Given the description of an element on the screen output the (x, y) to click on. 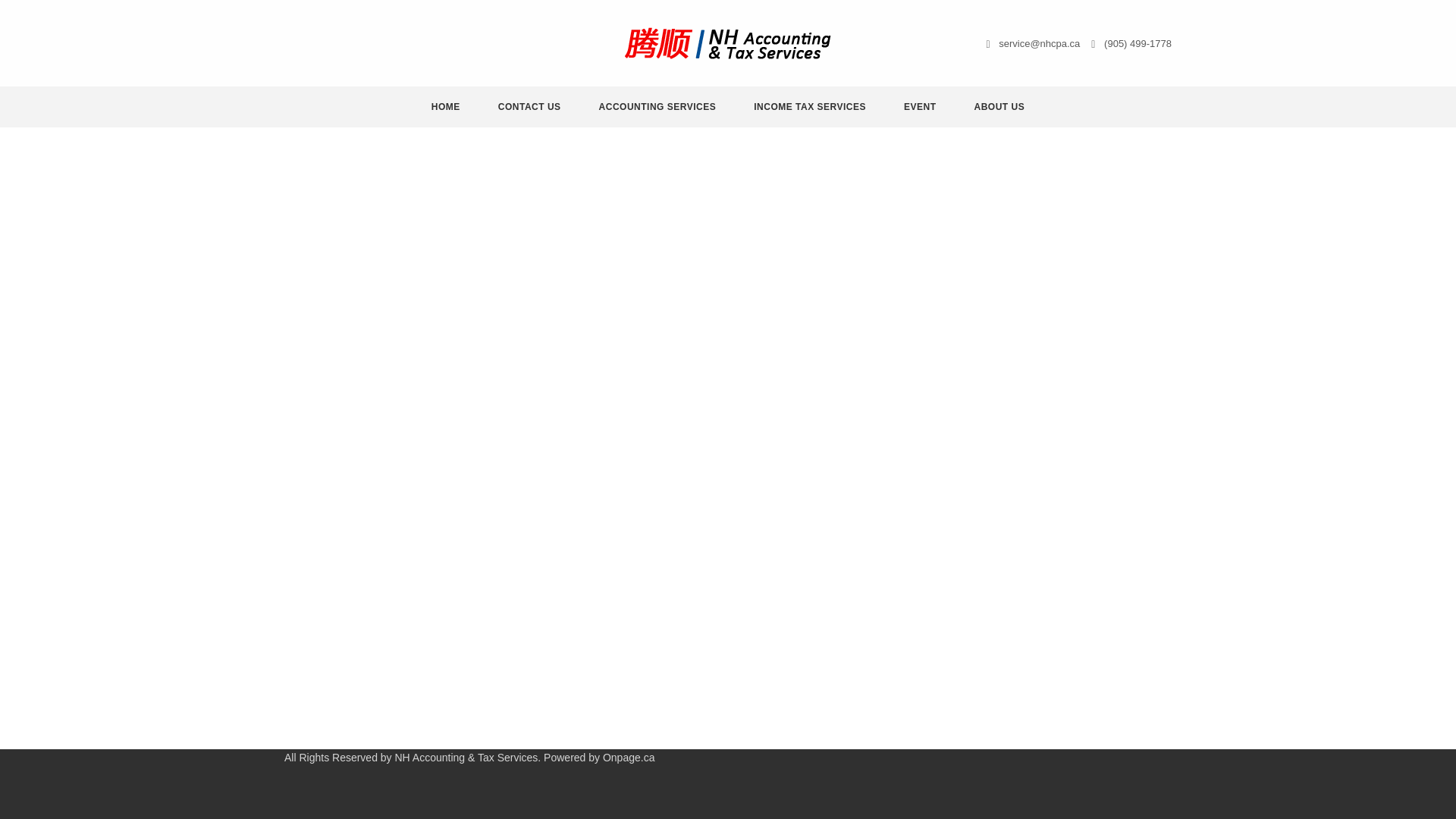
EVENT (919, 106)
Onpage.ca (628, 757)
ACCOUNTING SERVICES (658, 106)
ABOUT US (999, 106)
CONTACT US (529, 106)
INCOME TAX SERVICES (809, 106)
HOME (445, 106)
